Given the description of an element on the screen output the (x, y) to click on. 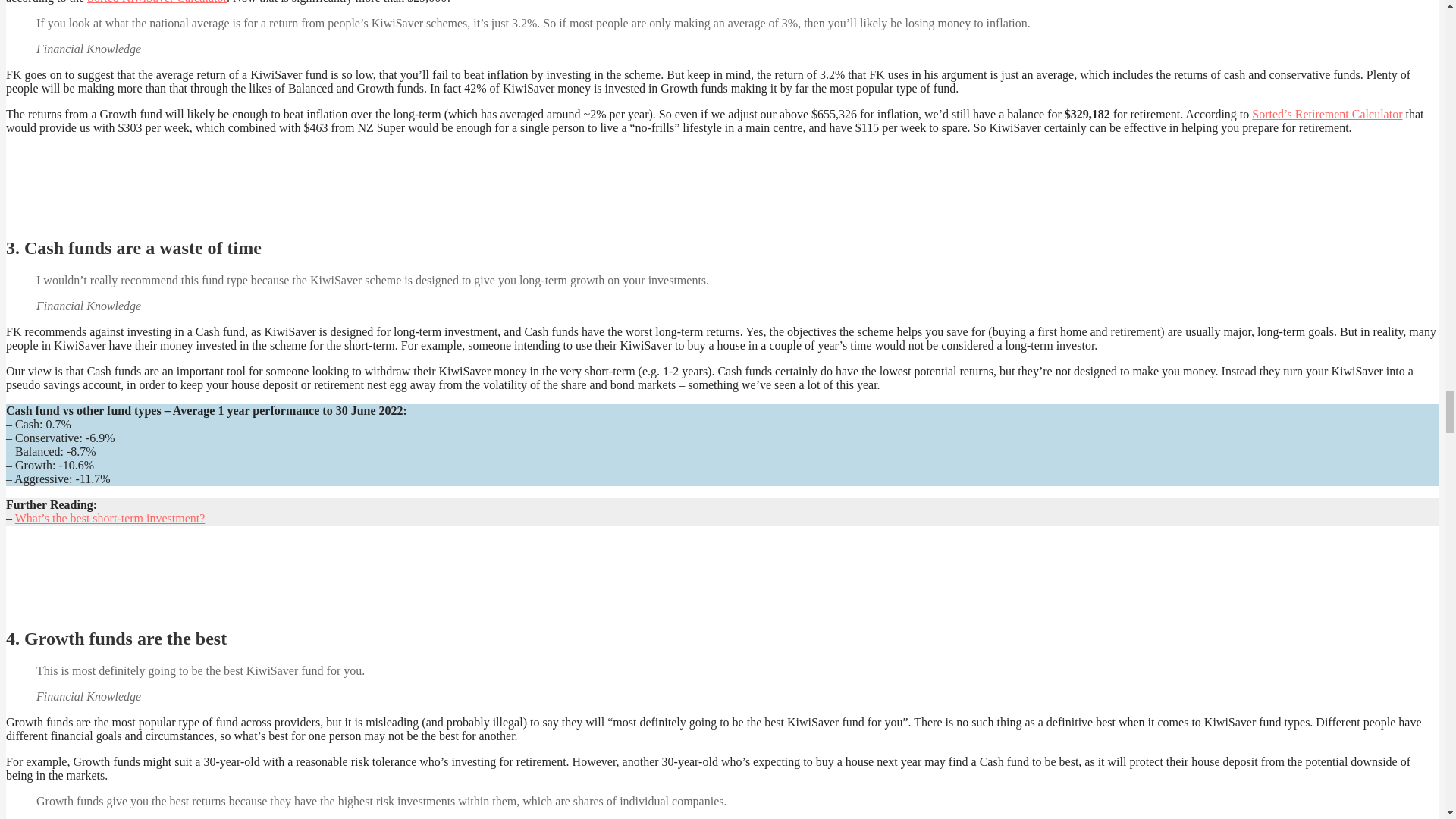
Sorted KiwiSaver Calculator (157, 2)
